Given the description of an element on the screen output the (x, y) to click on. 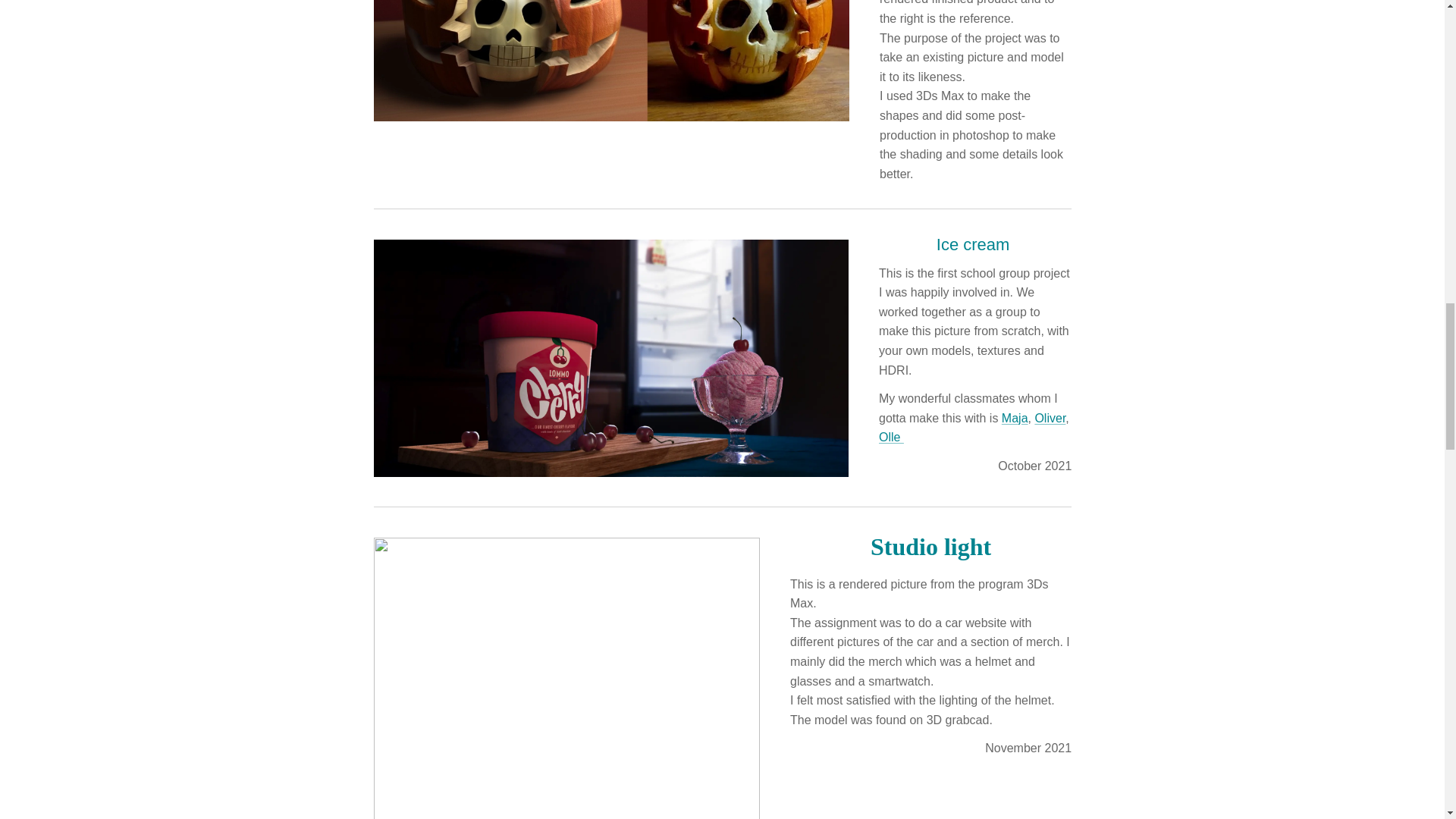
Oliver (1049, 417)
Olle  (889, 436)
Maja (1014, 417)
